Given the description of an element on the screen output the (x, y) to click on. 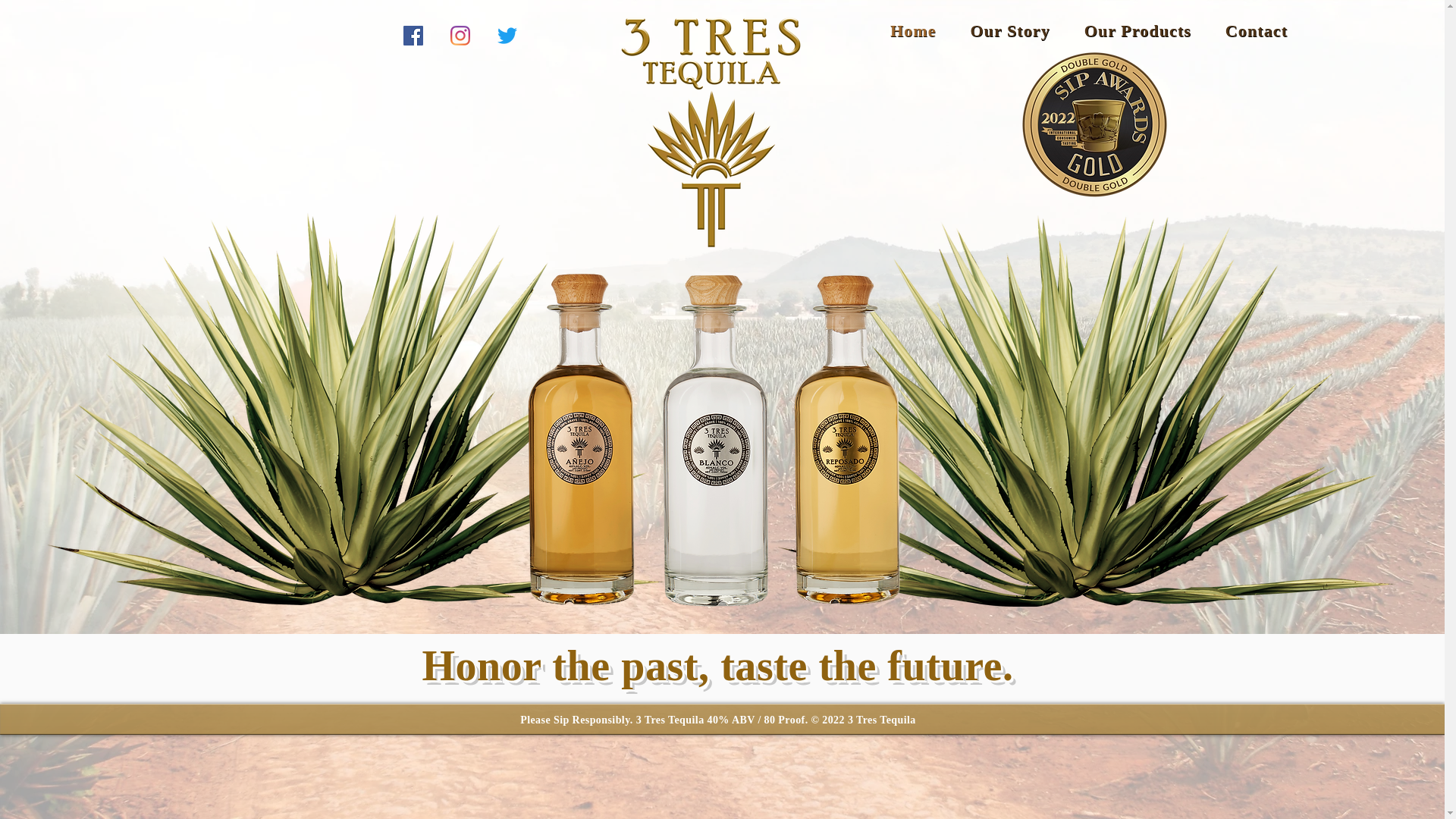
Our Story Element type: text (1009, 30)
Home Element type: text (913, 30)
Contact Element type: text (1256, 30)
Our Products Element type: text (1137, 30)
